Given the description of an element on the screen output the (x, y) to click on. 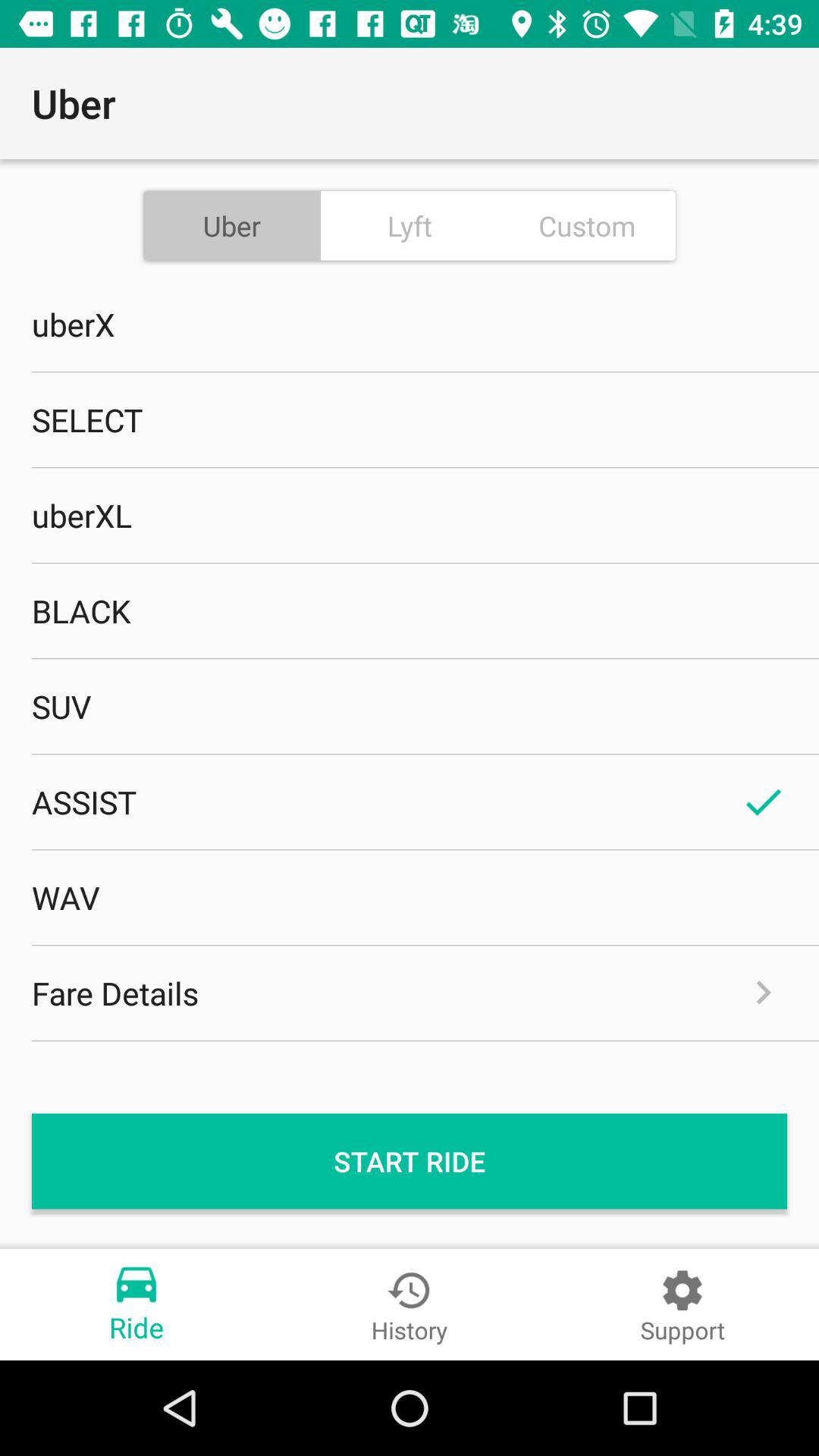
choose icon above start ride (409, 992)
